Given the description of an element on the screen output the (x, y) to click on. 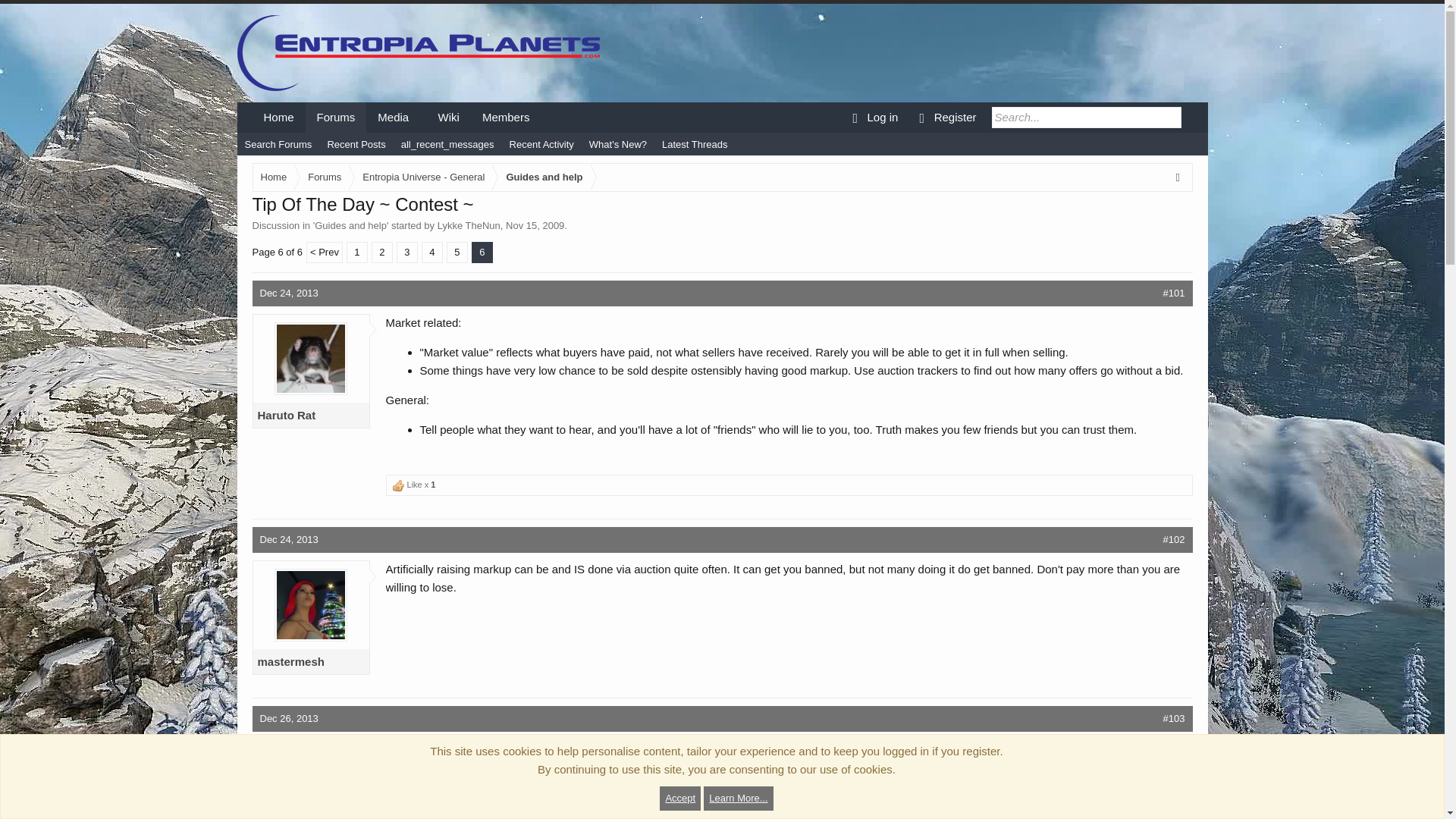
Permalink (288, 292)
Forums (335, 117)
Register (944, 117)
Log in (871, 117)
Lykke TheNun (469, 225)
What's New? (616, 144)
Nov 15, 2009 (534, 225)
Permalink (288, 539)
Entropia Universe - General (420, 177)
Permalink (1174, 717)
Home (277, 117)
4 (432, 251)
3 (406, 251)
1 (357, 251)
Members (505, 117)
